Given the description of an element on the screen output the (x, y) to click on. 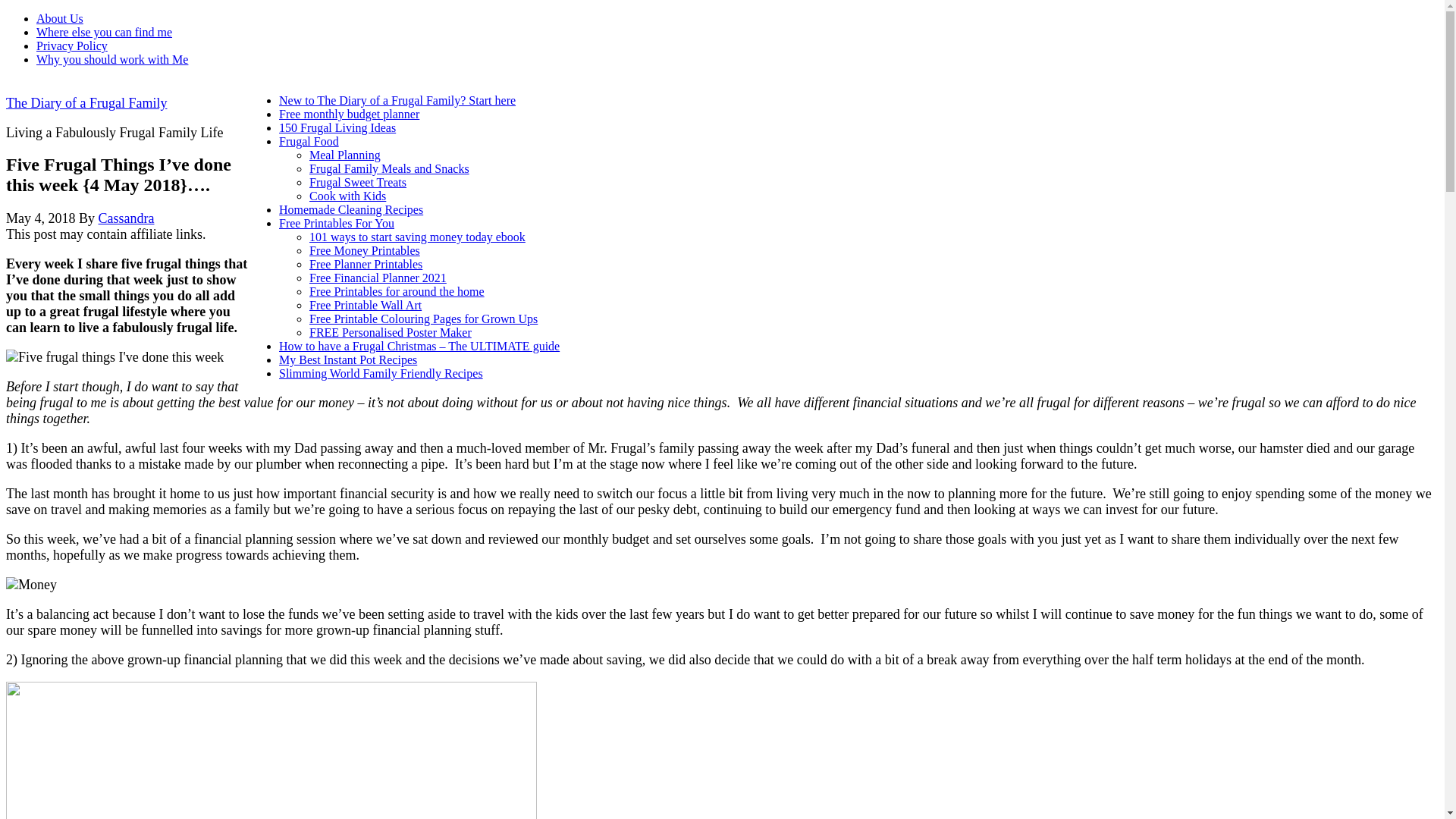
Cassandra (126, 218)
101 ways to start saving money today ebook (416, 236)
Free Printables for around the home (396, 291)
Frugal Family Meals and Snacks (388, 168)
Homemade Cleaning Recipes (351, 209)
New to The Diary of a Frugal Family? Start here (397, 100)
Free monthly budget planner (349, 113)
The Diary of a Frugal Family (86, 102)
About Us (59, 18)
Slimming World Family Friendly Recipes (381, 373)
